Given the description of an element on the screen output the (x, y) to click on. 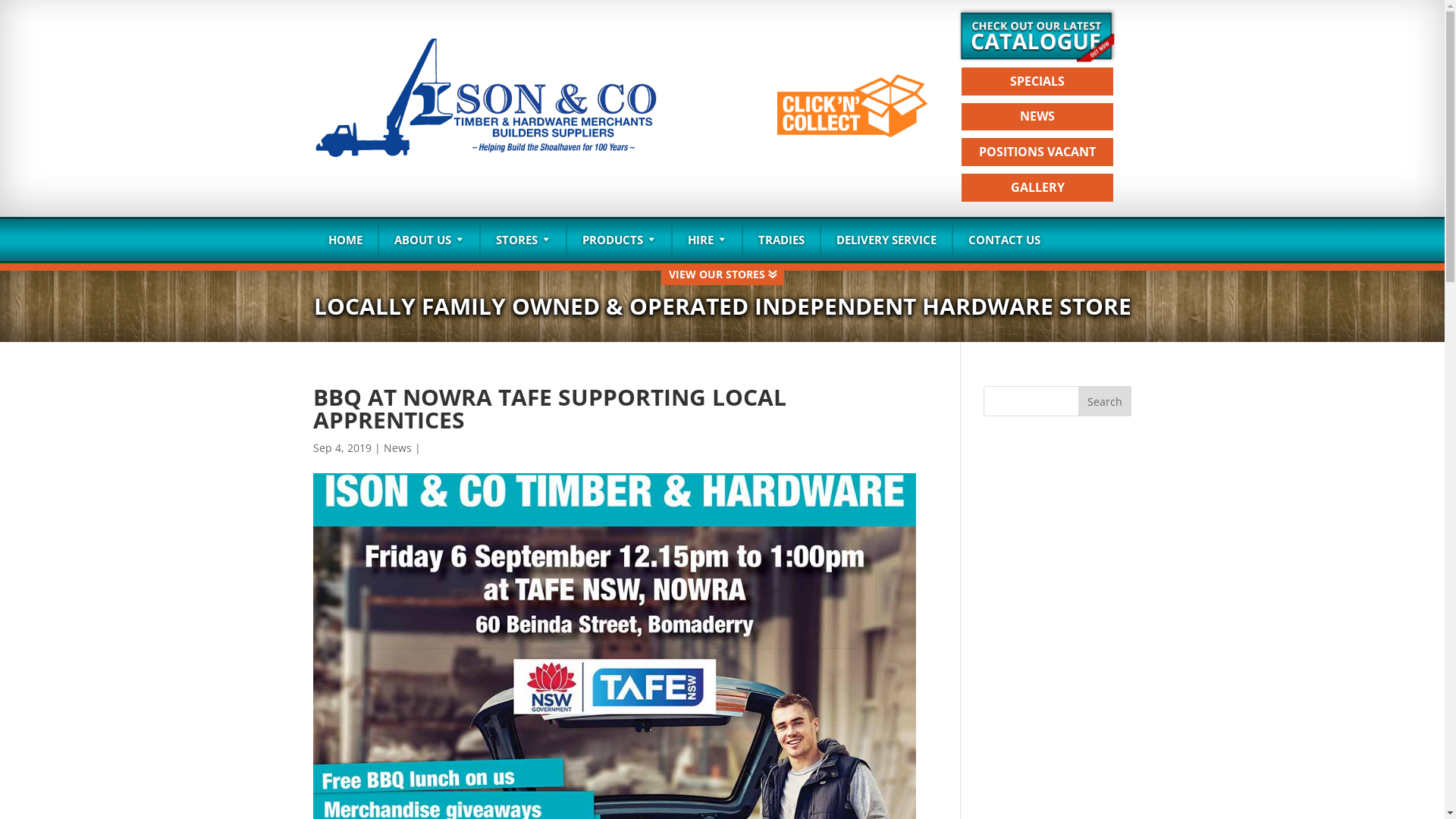
PRODUCTS Element type: text (619, 239)
POSITIONS VACANT Element type: text (1037, 152)
ABOUT US Element type: text (429, 239)
SPECIALS Element type: text (1037, 81)
CONTACT US Element type: text (1003, 239)
NEWS Element type: text (1037, 117)
STORES Element type: text (522, 239)
HIRE Element type: text (705, 239)
GALLERY Element type: text (1037, 187)
News Element type: text (397, 447)
Search Element type: text (1104, 400)
HOME Element type: text (344, 239)
DELIVERY SERVICE Element type: text (885, 239)
TRADIES Element type: text (781, 239)
